Given the description of an element on the screen output the (x, y) to click on. 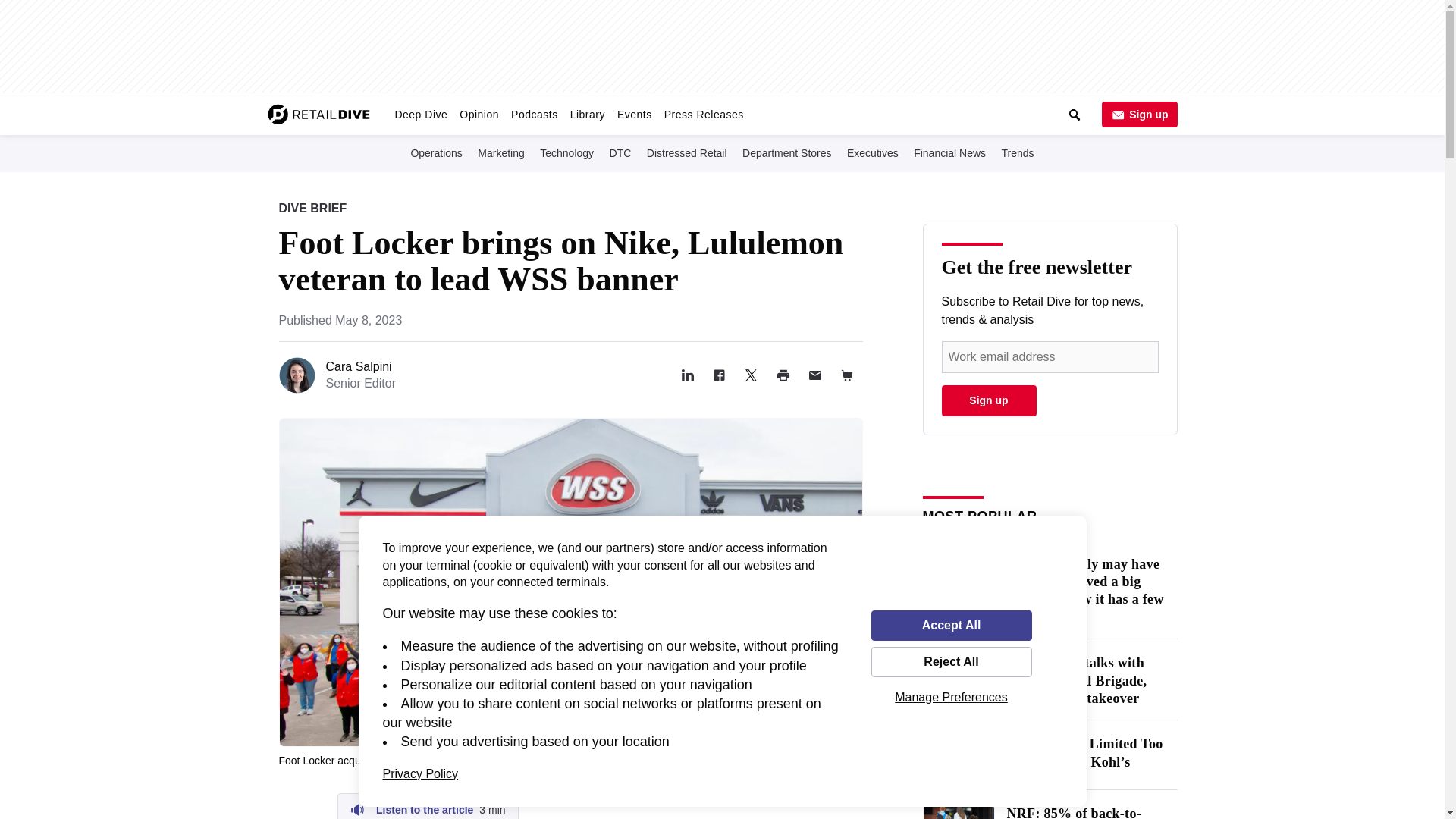
Cara Salpini (358, 366)
Deep Dive (420, 114)
Events (634, 114)
Reject All (950, 662)
DTC (620, 152)
Library (587, 114)
Trends (1017, 152)
Financial News (949, 152)
Department Stores (786, 152)
Sign up (1138, 114)
Privacy Policy (419, 773)
Executives (872, 152)
Press Releases (703, 114)
Operations (435, 152)
Accept All (950, 625)
